Given the description of an element on the screen output the (x, y) to click on. 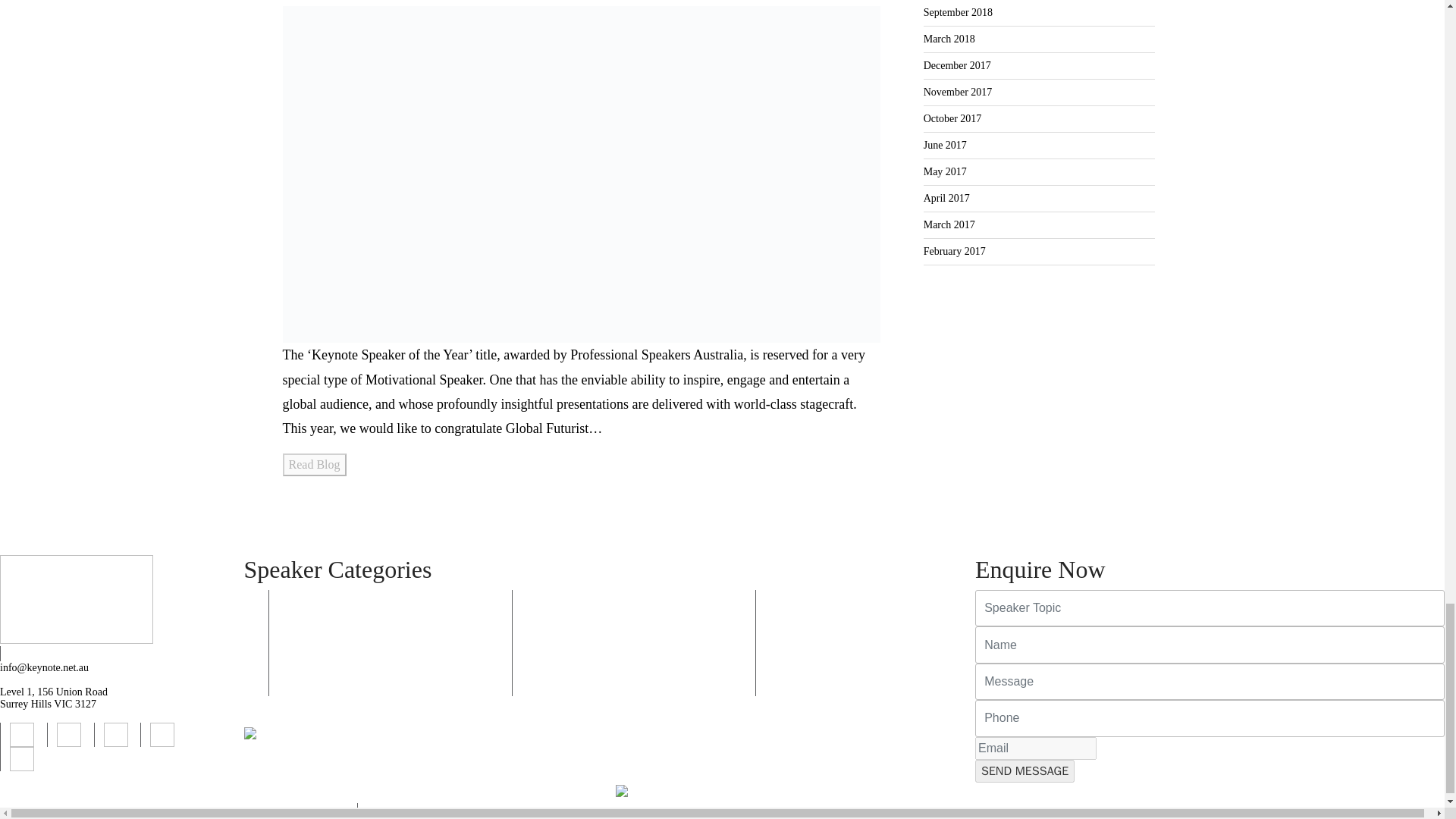
SEND MESSAGE (1024, 771)
SEND MESSAGE (1024, 771)
Read Blog (314, 463)
Read Blog (314, 464)
